Given the description of an element on the screen output the (x, y) to click on. 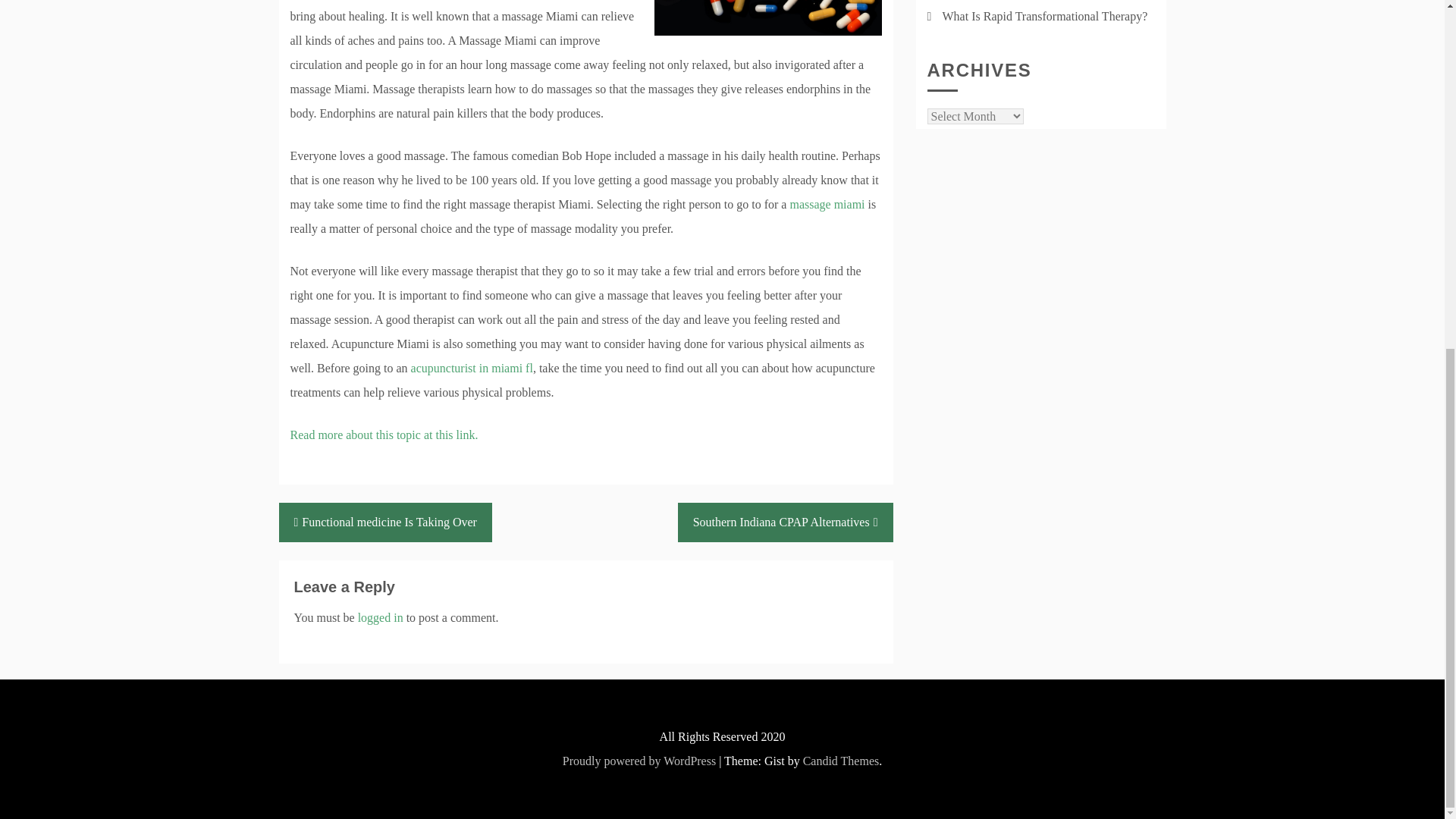
What Is Rapid Transformational Therapy? (1044, 15)
massage miami (826, 204)
Functional medicine Is Taking Over (385, 522)
Massage therapist miami (383, 434)
Candid Themes (841, 760)
Massage miami (471, 367)
Read more about this topic at this link. (383, 434)
Acupuncture miami (826, 204)
Southern Indiana CPAP Alternatives (785, 522)
logged in (380, 617)
